Given the description of an element on the screen output the (x, y) to click on. 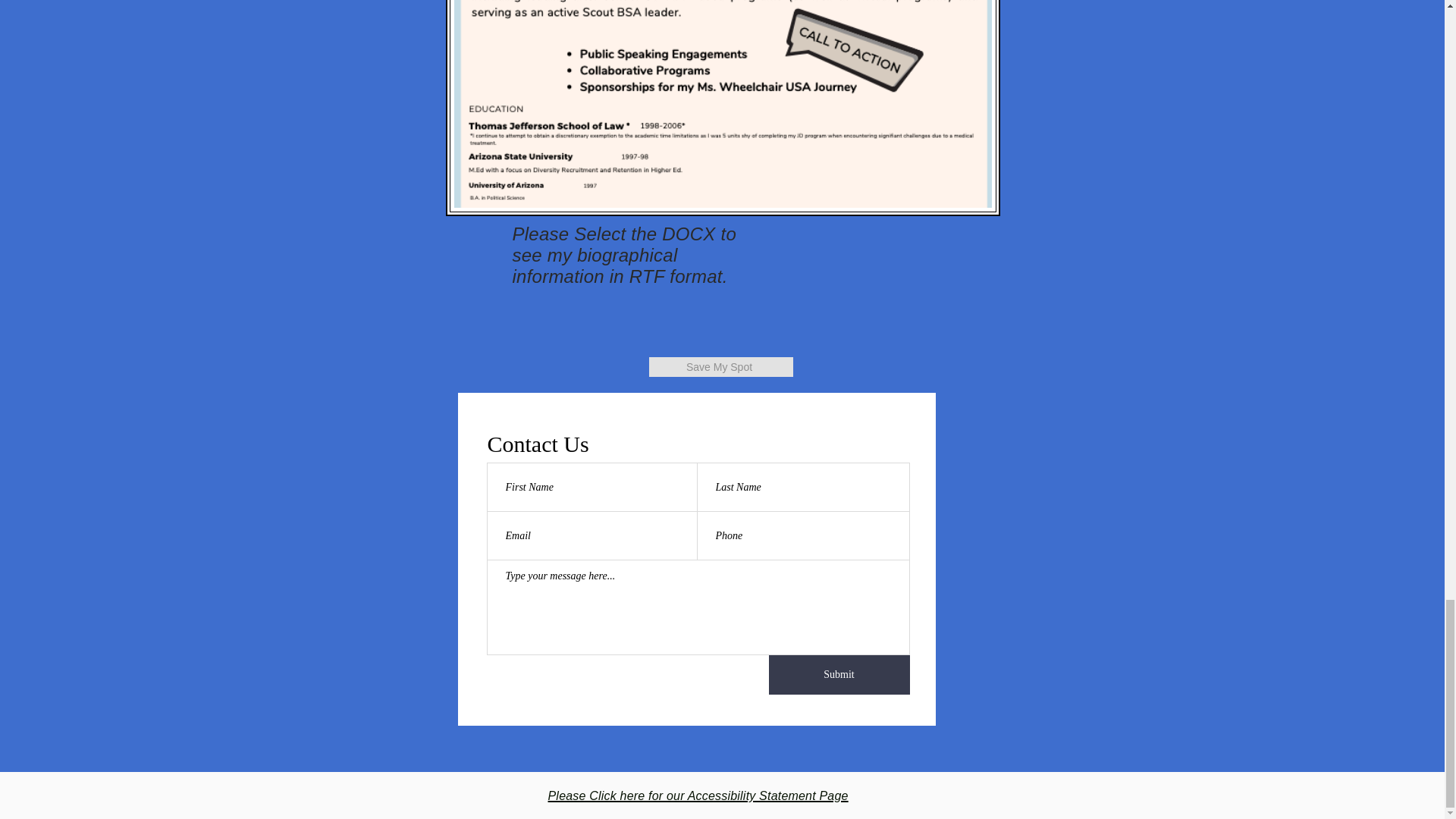
Submit (839, 674)
Empowering people with disABILITIES (722, 108)
Save My Spot (721, 366)
